Given the description of an element on the screen output the (x, y) to click on. 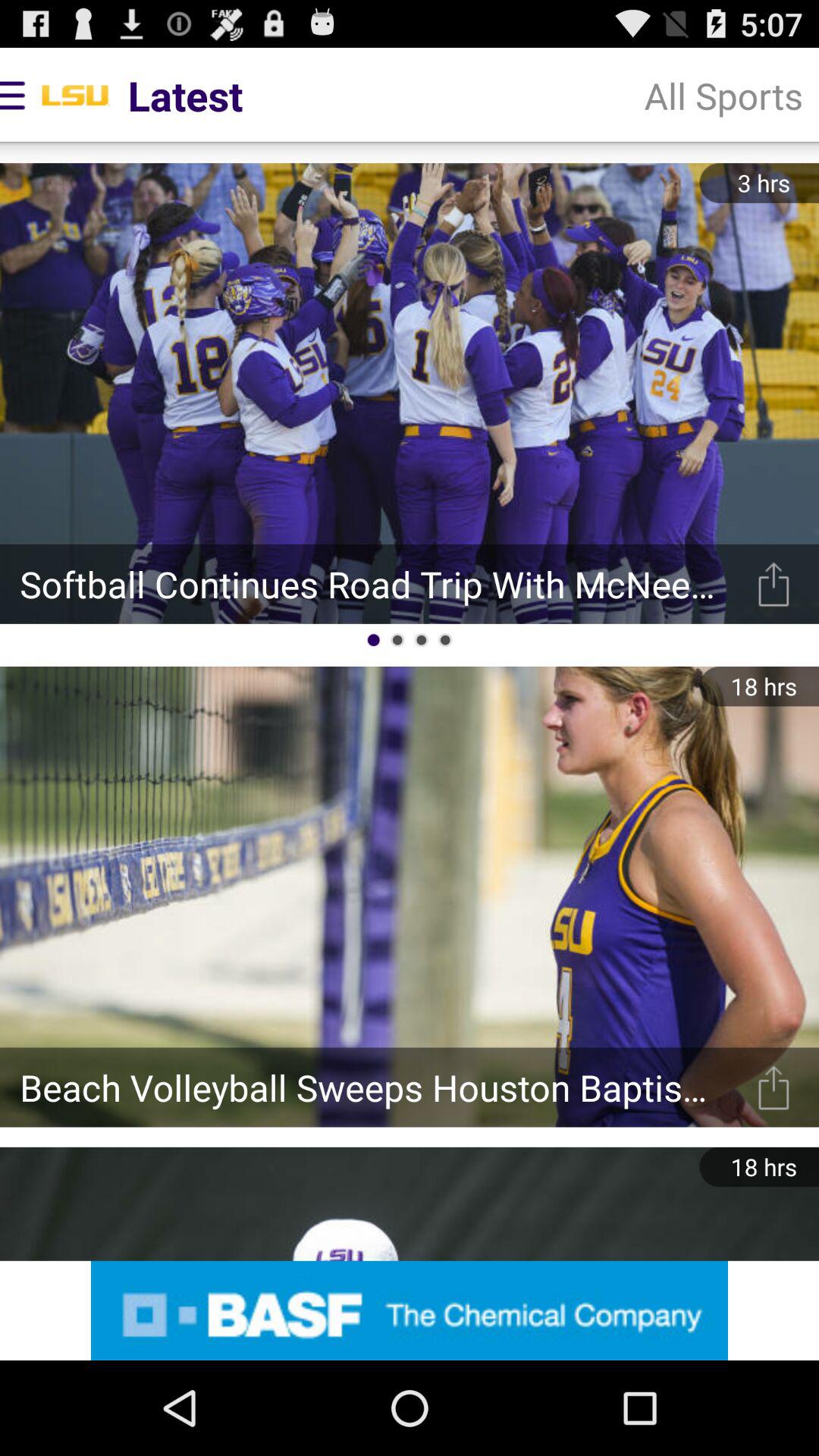
open advertisement (409, 1310)
